Given the description of an element on the screen output the (x, y) to click on. 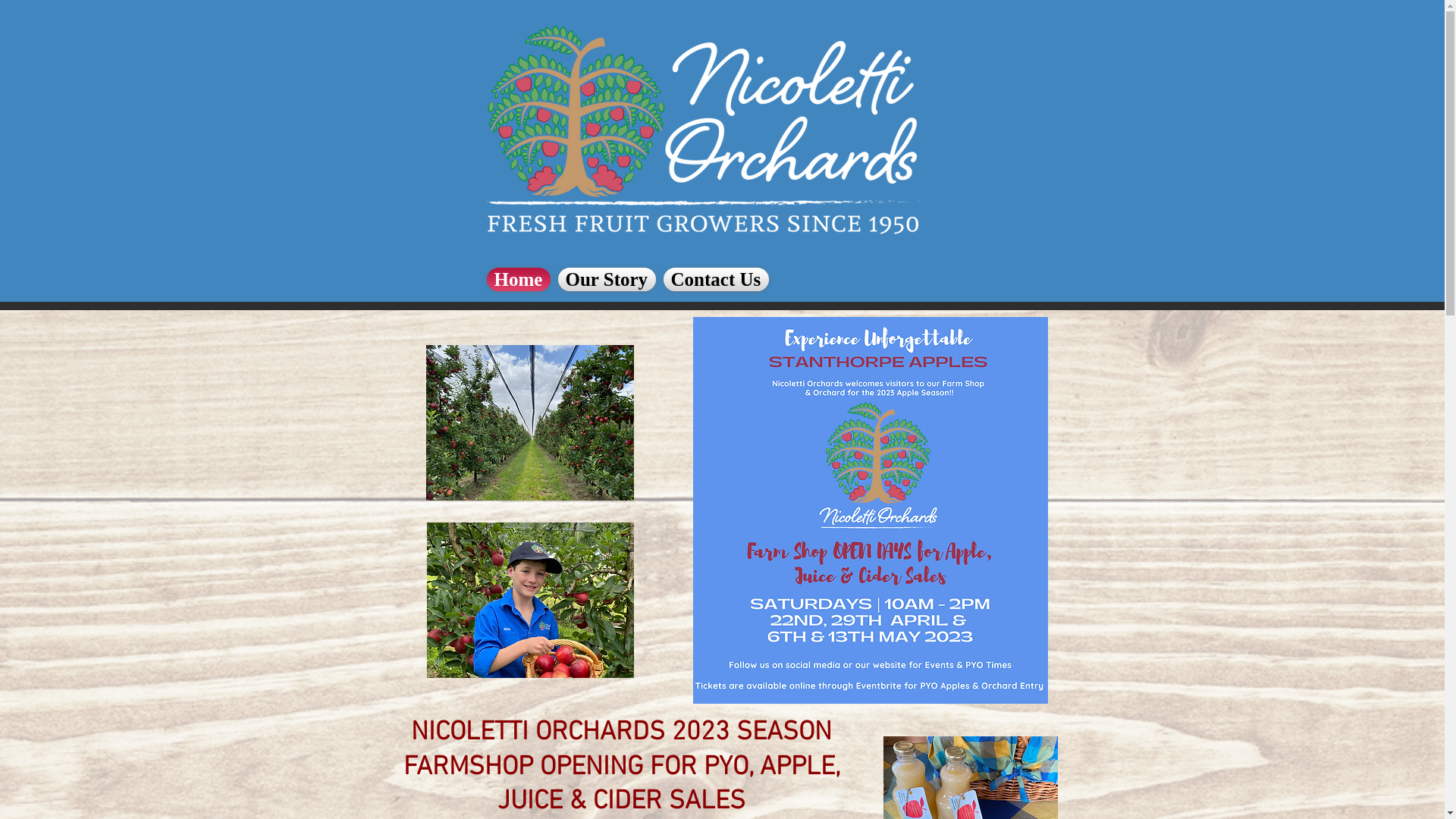
Home Element type: text (520, 279)
Contact Us Element type: text (715, 279)
Our Story Element type: text (605, 279)
20220606 Farm Shop Closed for Winter.png Element type: hover (870, 509)
